Given the description of an element on the screen output the (x, y) to click on. 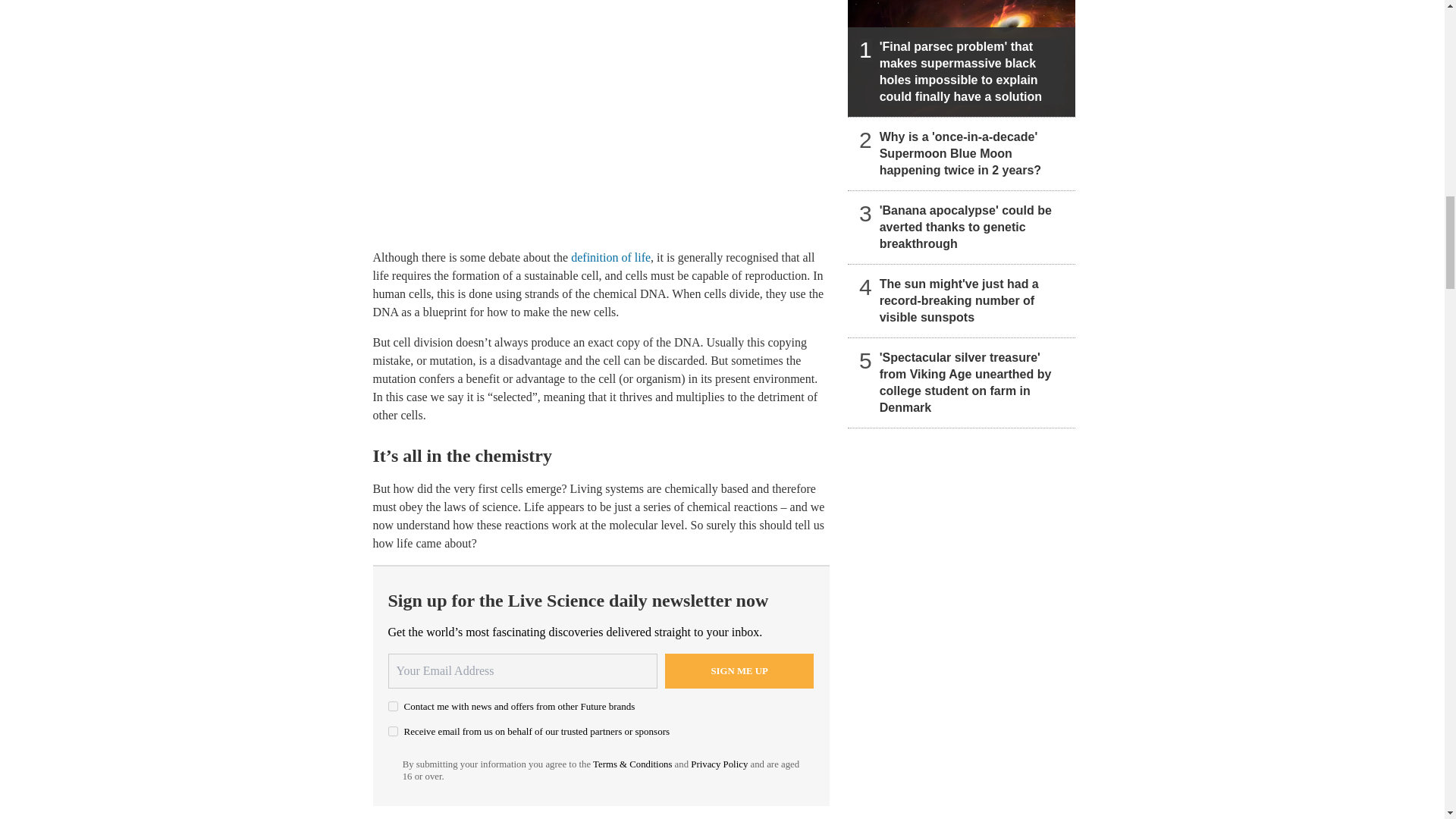
on (392, 731)
Sign me up (739, 670)
on (392, 706)
